Given the description of an element on the screen output the (x, y) to click on. 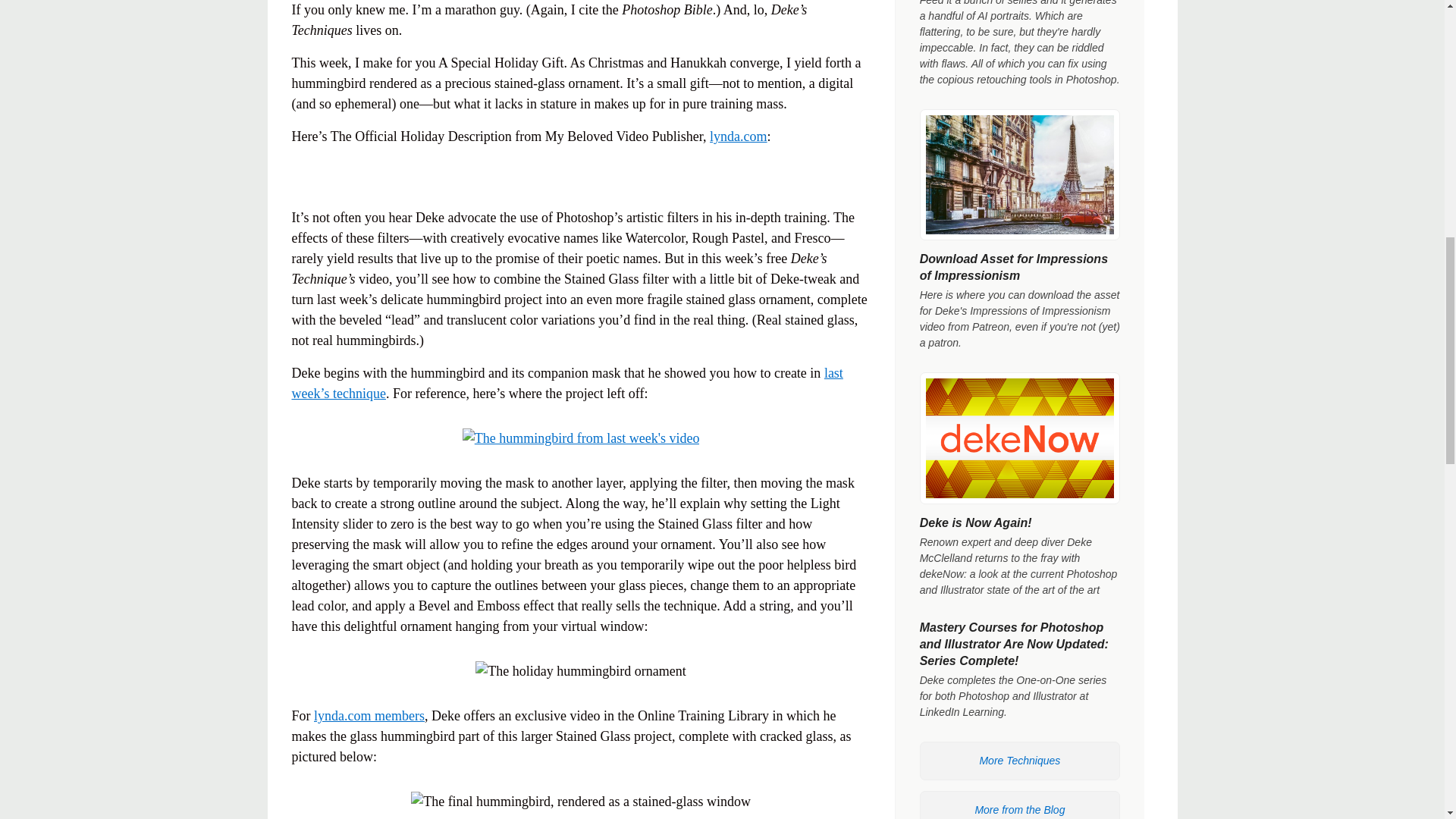
Download Asset for Impressions of Impressionism (1014, 266)
More from the Blog (1019, 805)
Deke is Now Again! (976, 522)
More Techniques (1019, 761)
lynda.com (738, 136)
lynda.com members (369, 715)
